Given the description of an element on the screen output the (x, y) to click on. 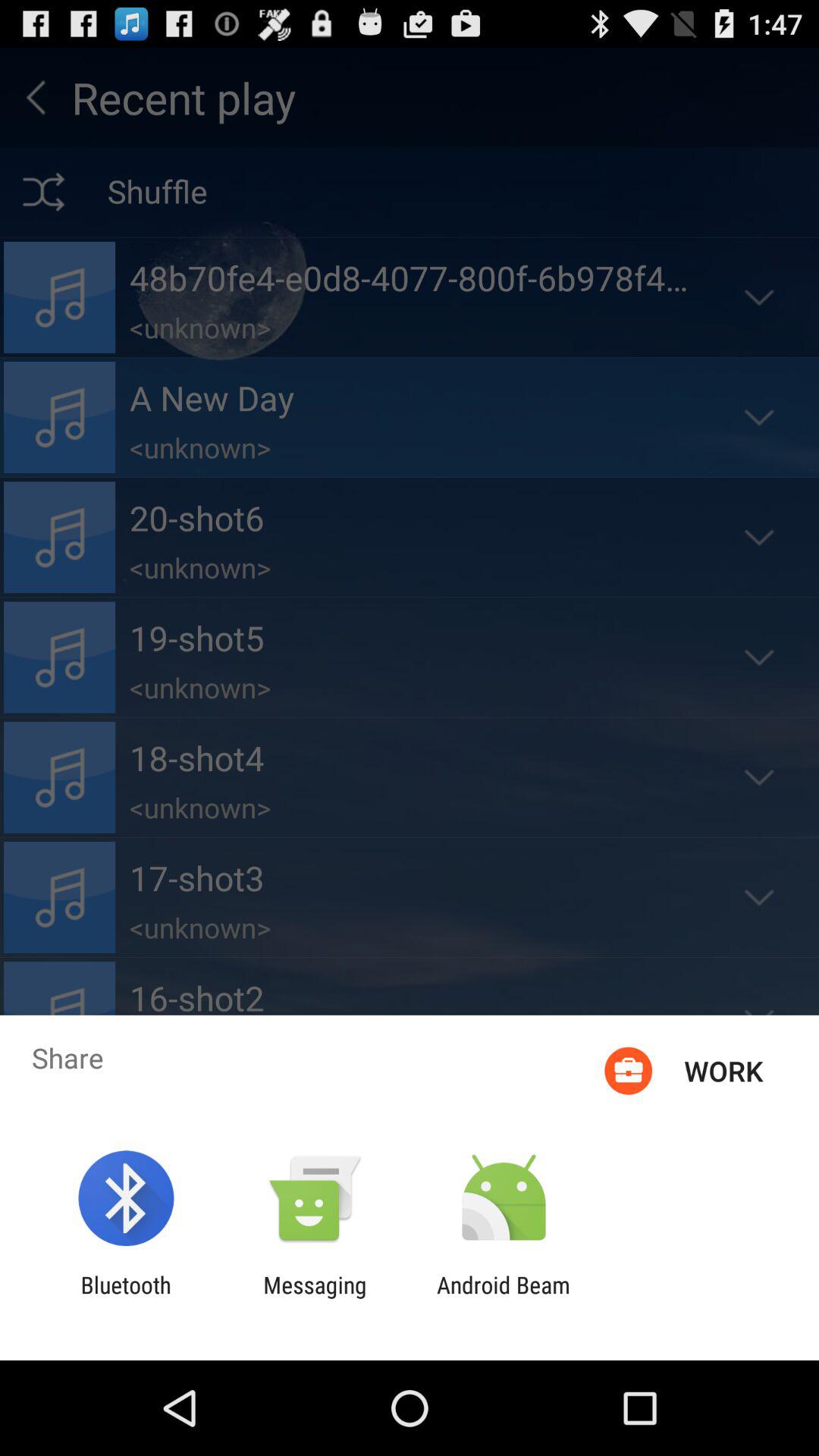
select the icon next to the bluetooth app (314, 1298)
